Given the description of an element on the screen output the (x, y) to click on. 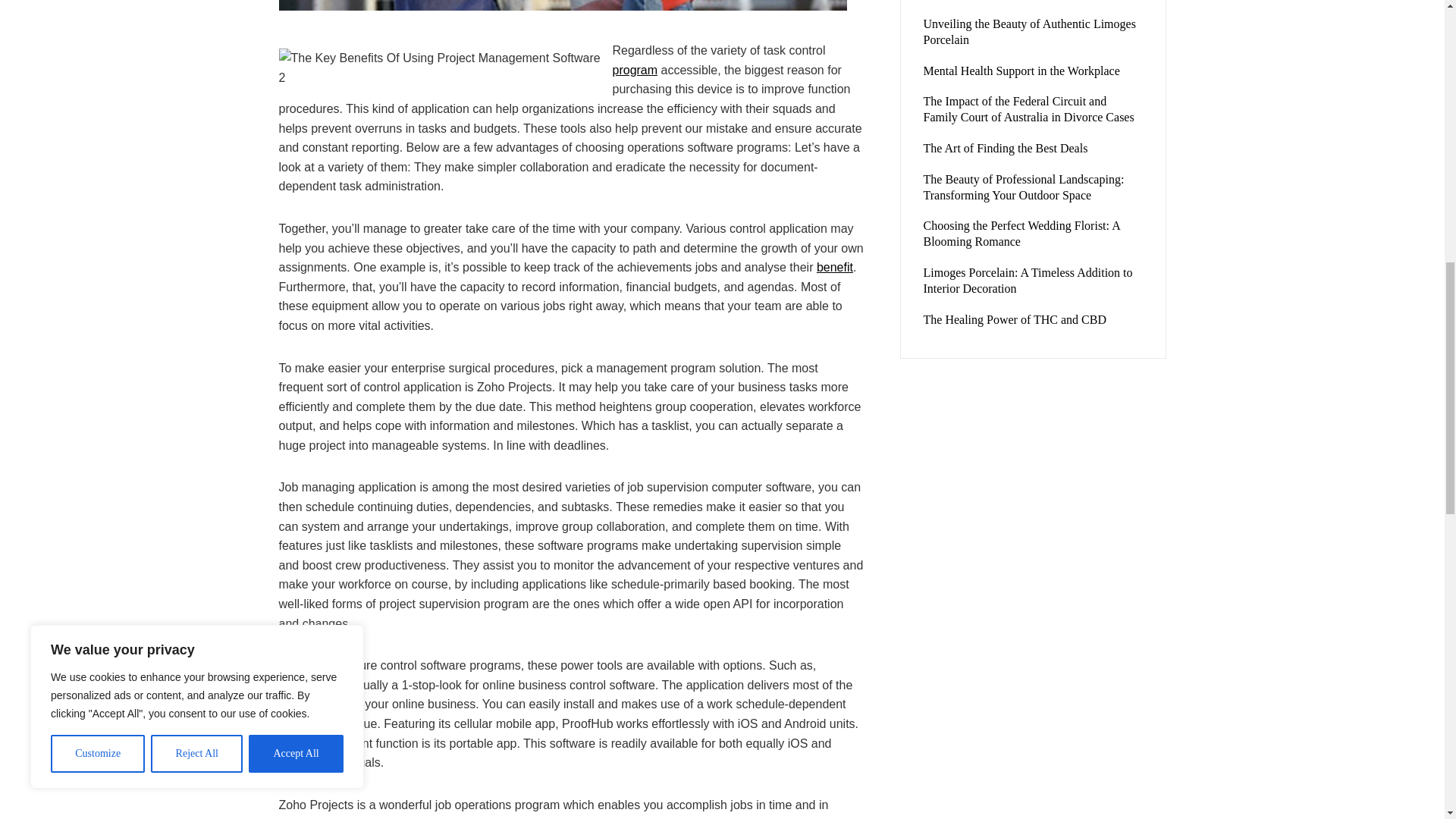
benefit (834, 267)
program (635, 69)
